Given the description of an element on the screen output the (x, y) to click on. 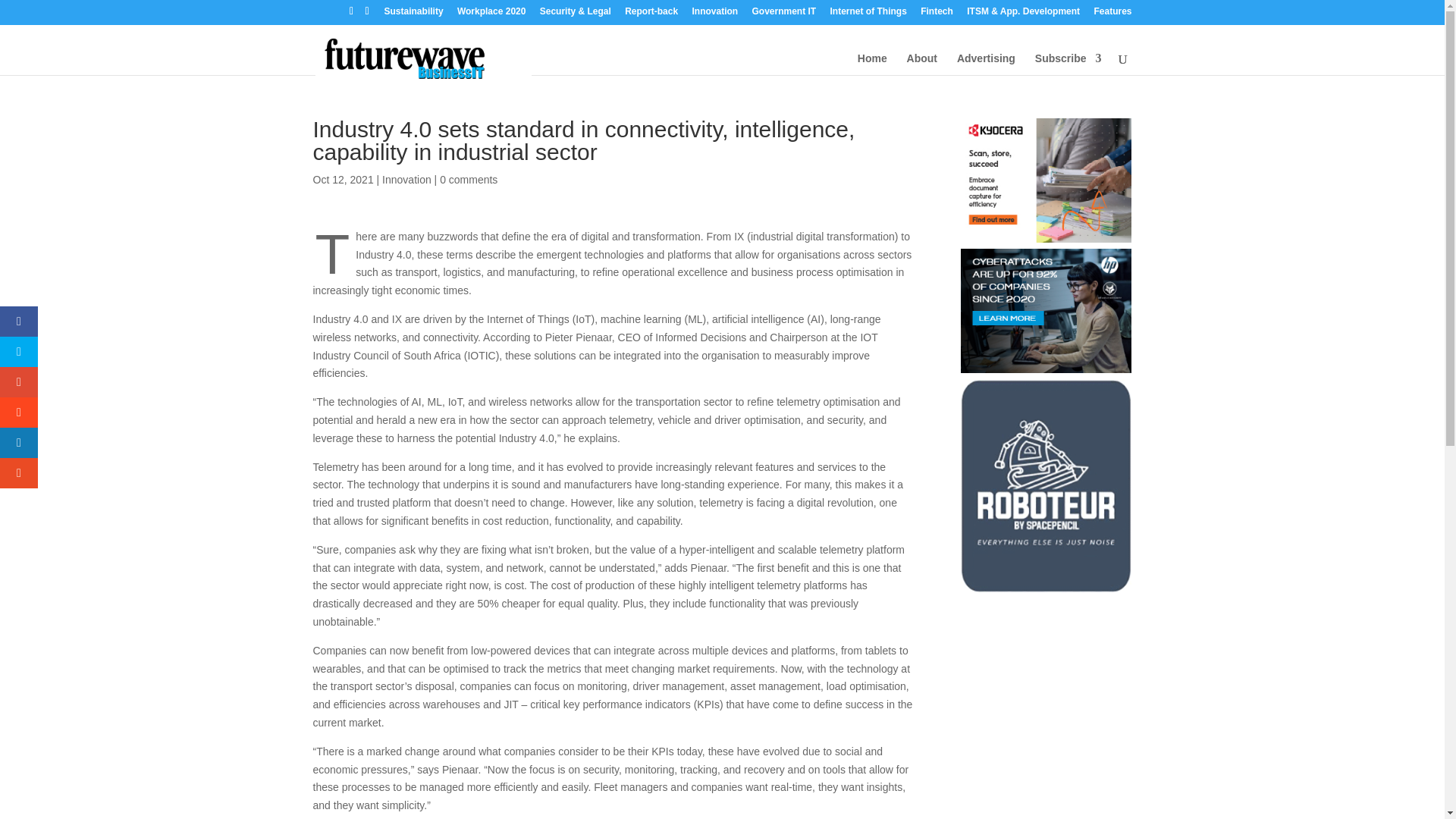
Workplace 2020 (491, 14)
0 comments (468, 179)
Advertising (985, 72)
Features (1112, 14)
Internet of Things (868, 14)
Fintech (936, 14)
Report-back (651, 14)
Subscribe (1068, 72)
Sustainability (414, 14)
Innovation (405, 179)
Government IT (784, 14)
Innovation (714, 14)
